Given the description of an element on the screen output the (x, y) to click on. 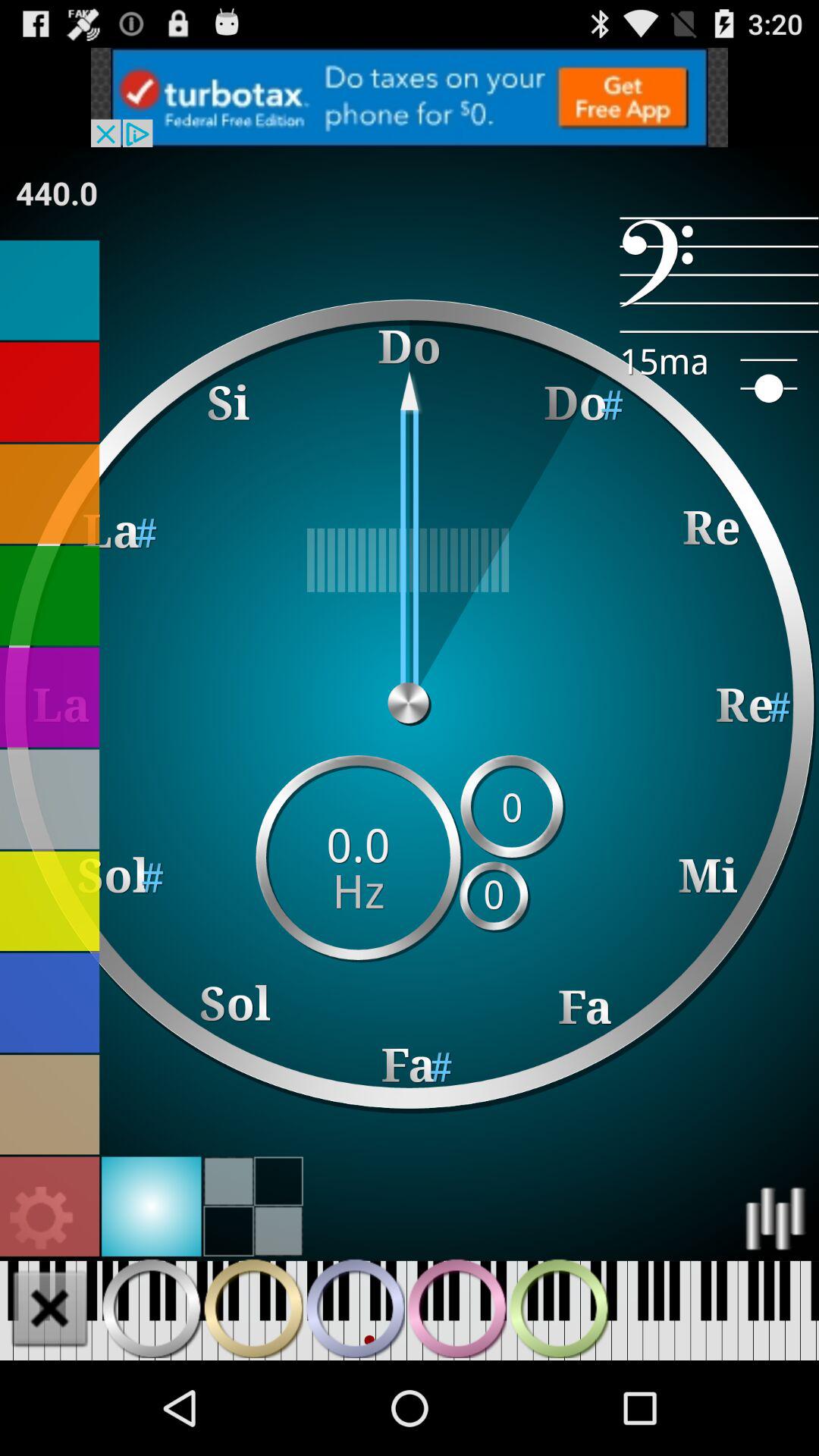
click blue (49, 290)
